Given the description of an element on the screen output the (x, y) to click on. 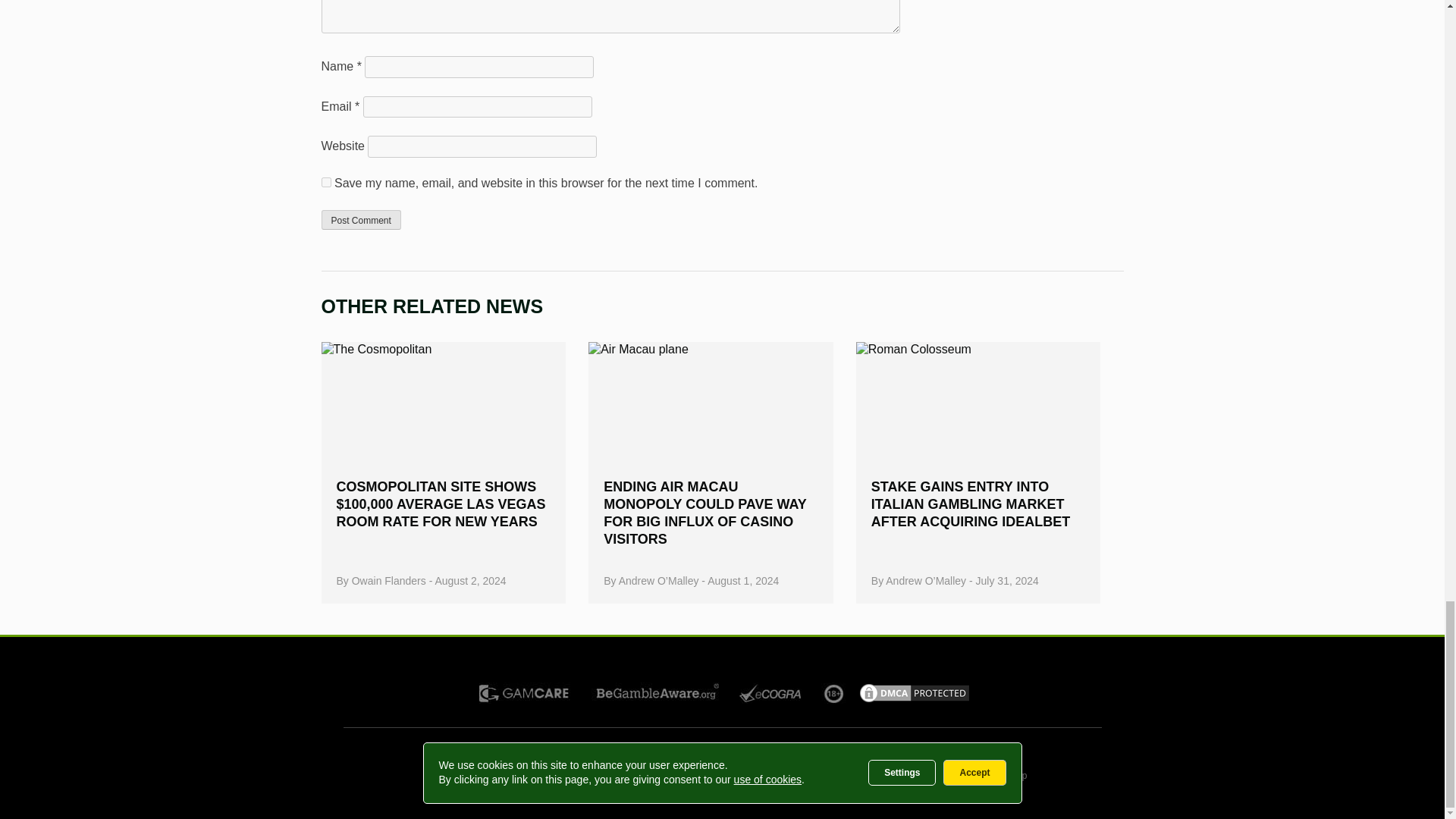
Gambleaware (661, 692)
Post Comment (361, 219)
DMCA.com Protection Status (914, 699)
Post Comment (361, 219)
Ecogra (772, 692)
yes (326, 182)
Gamcare (524, 693)
